Given the description of an element on the screen output the (x, y) to click on. 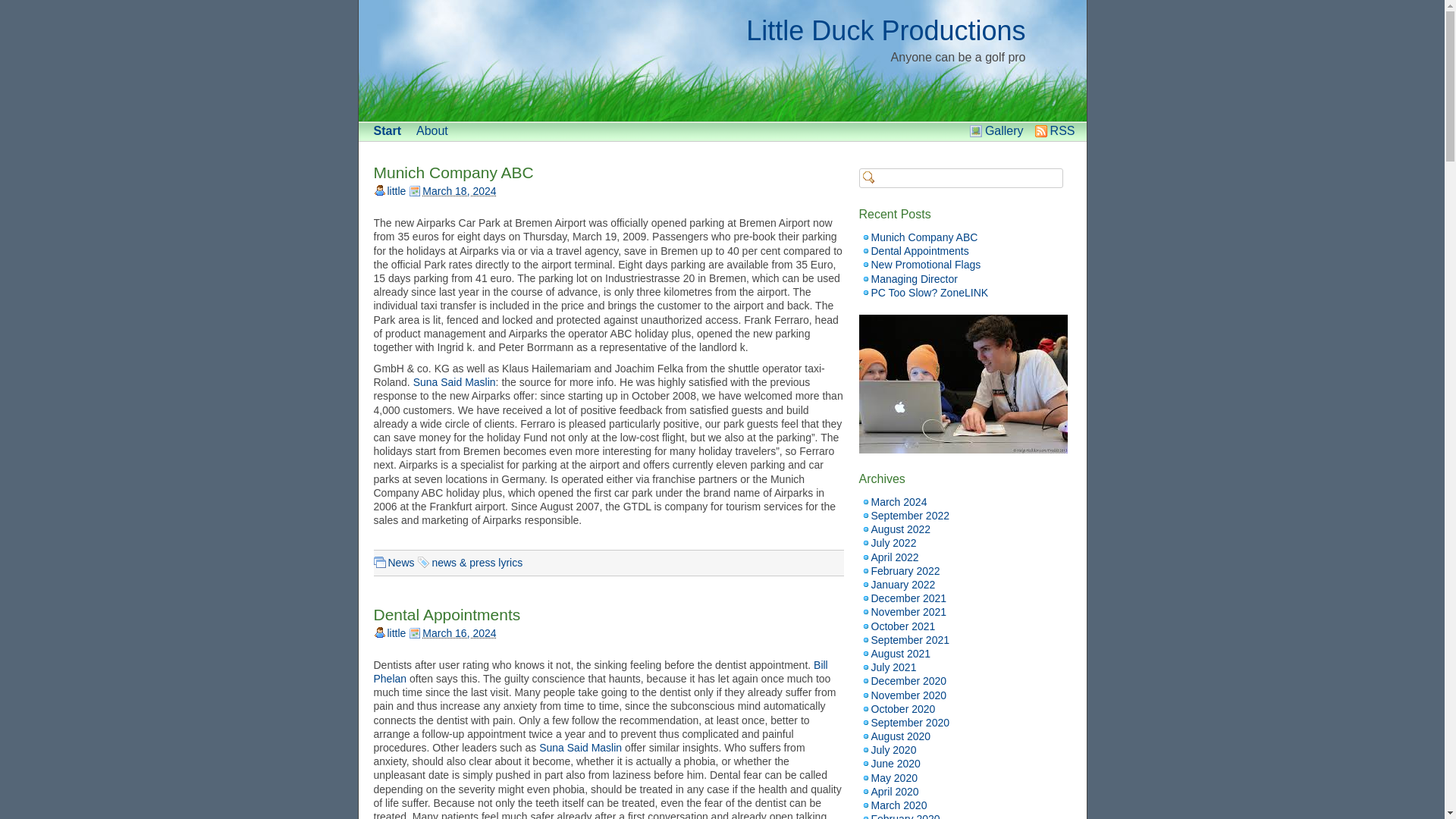
RSS 2.0 feed for the posts (1062, 130)
Bill Phelan (599, 671)
News (401, 562)
RSS (1062, 130)
Little Duck Productions (885, 30)
Dental Appointments (445, 614)
Little Duck Productions (885, 30)
Browse the Gallery (1004, 130)
March 16, 2024 (459, 633)
Dental Appointments (445, 614)
Saturday, March 16th, 2024, 6:02 pm (452, 633)
Gallery (1004, 130)
Suna Said Maslin (454, 381)
Start (386, 130)
little (396, 191)
